Given the description of an element on the screen output the (x, y) to click on. 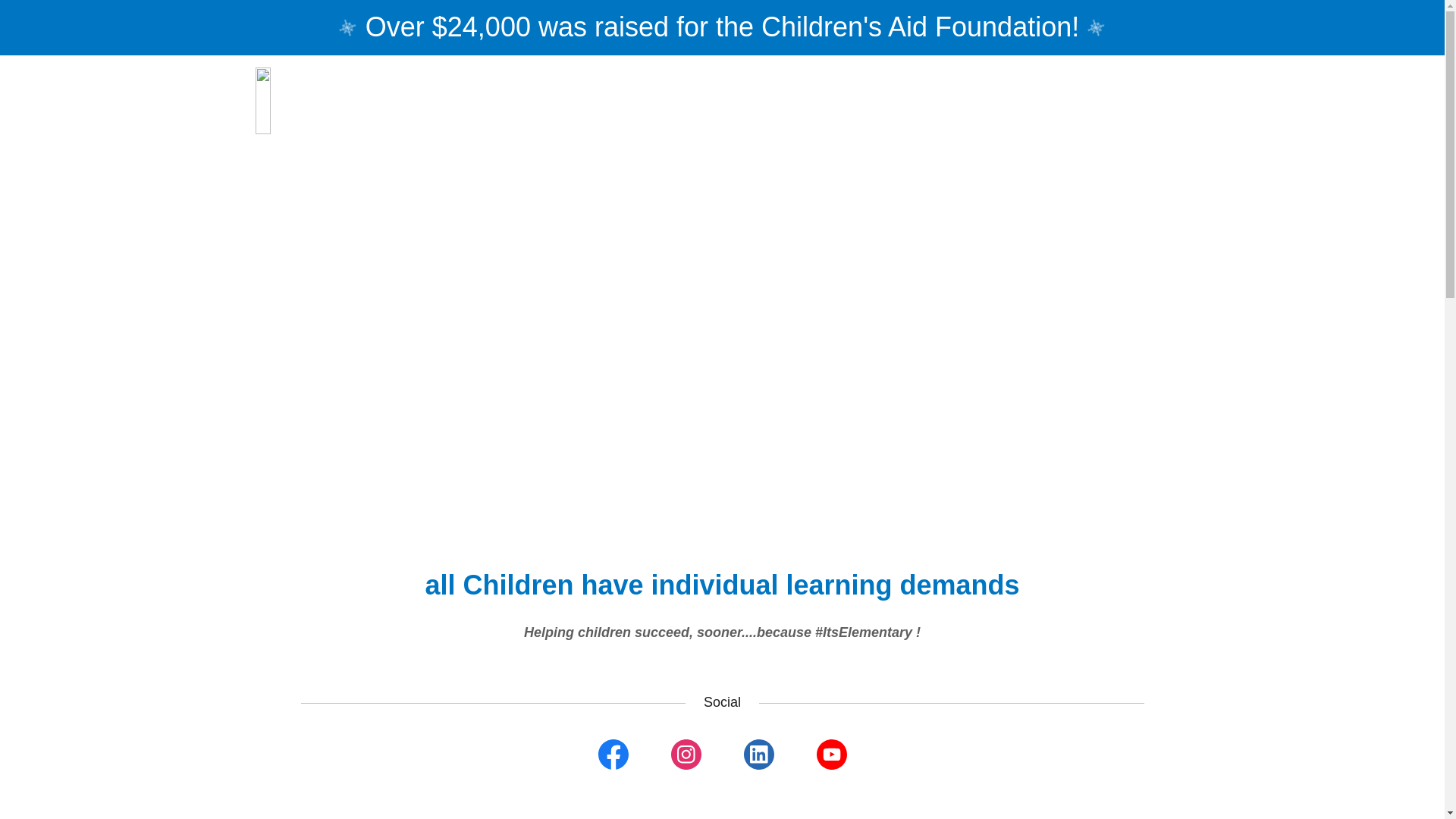
Over $24,000 was raised for the Children's Aid Foundation! Element type: text (722, 27)
